Given the description of an element on the screen output the (x, y) to click on. 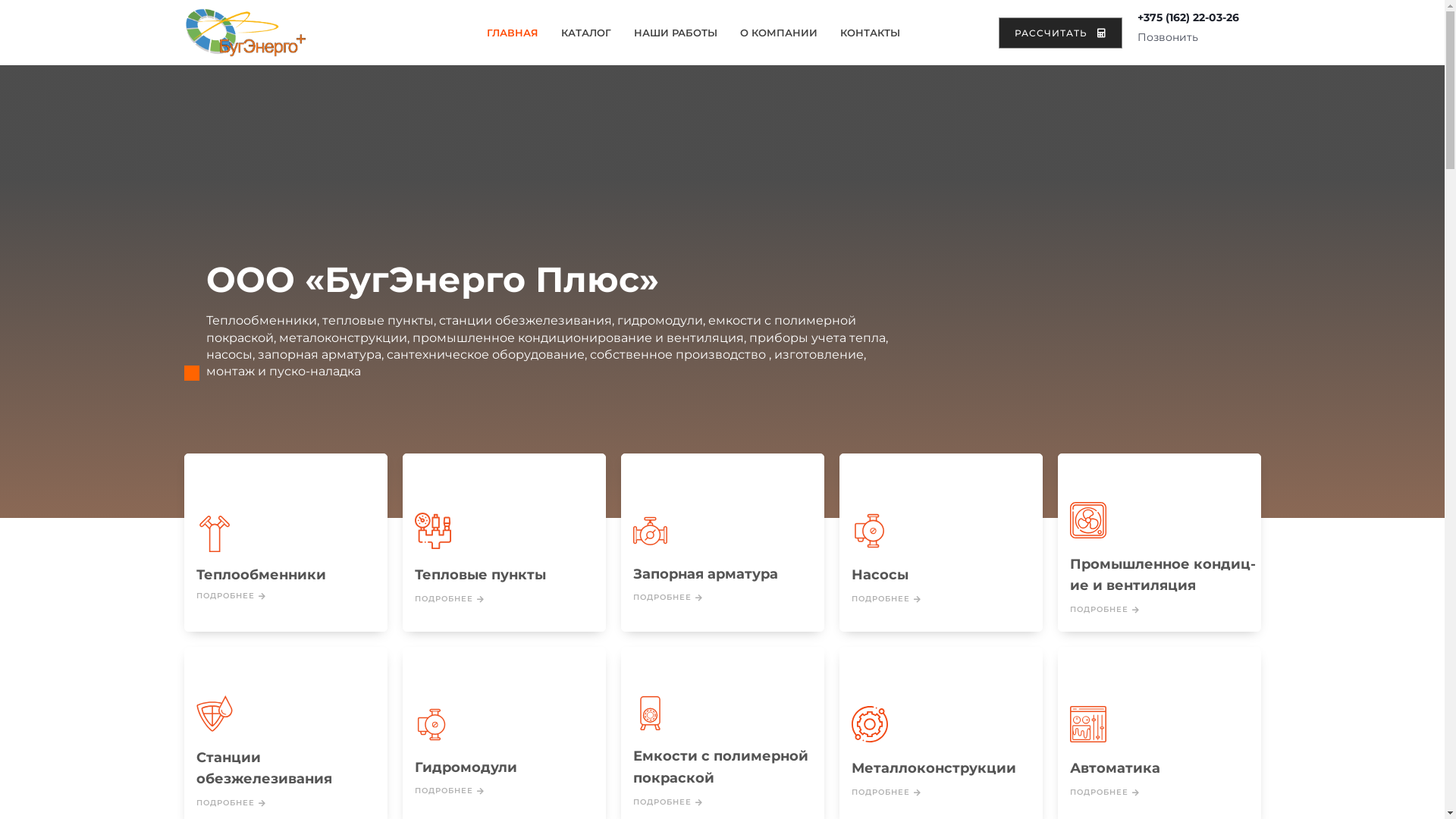
+375 (162) 22-03-26 Element type: text (1188, 17)
